Given the description of an element on the screen output the (x, y) to click on. 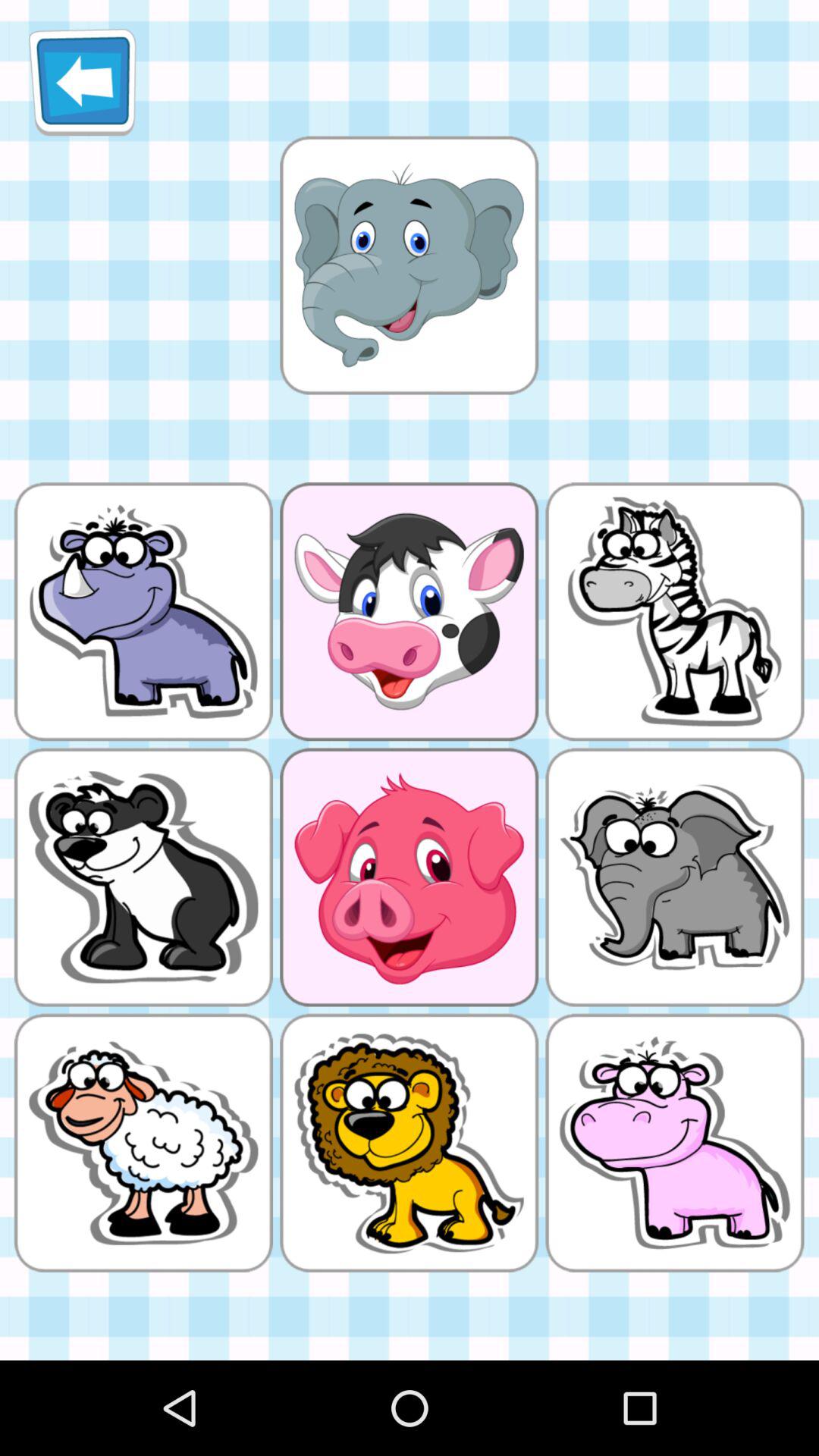
message to be send in picture option (409, 264)
